Given the description of an element on the screen output the (x, y) to click on. 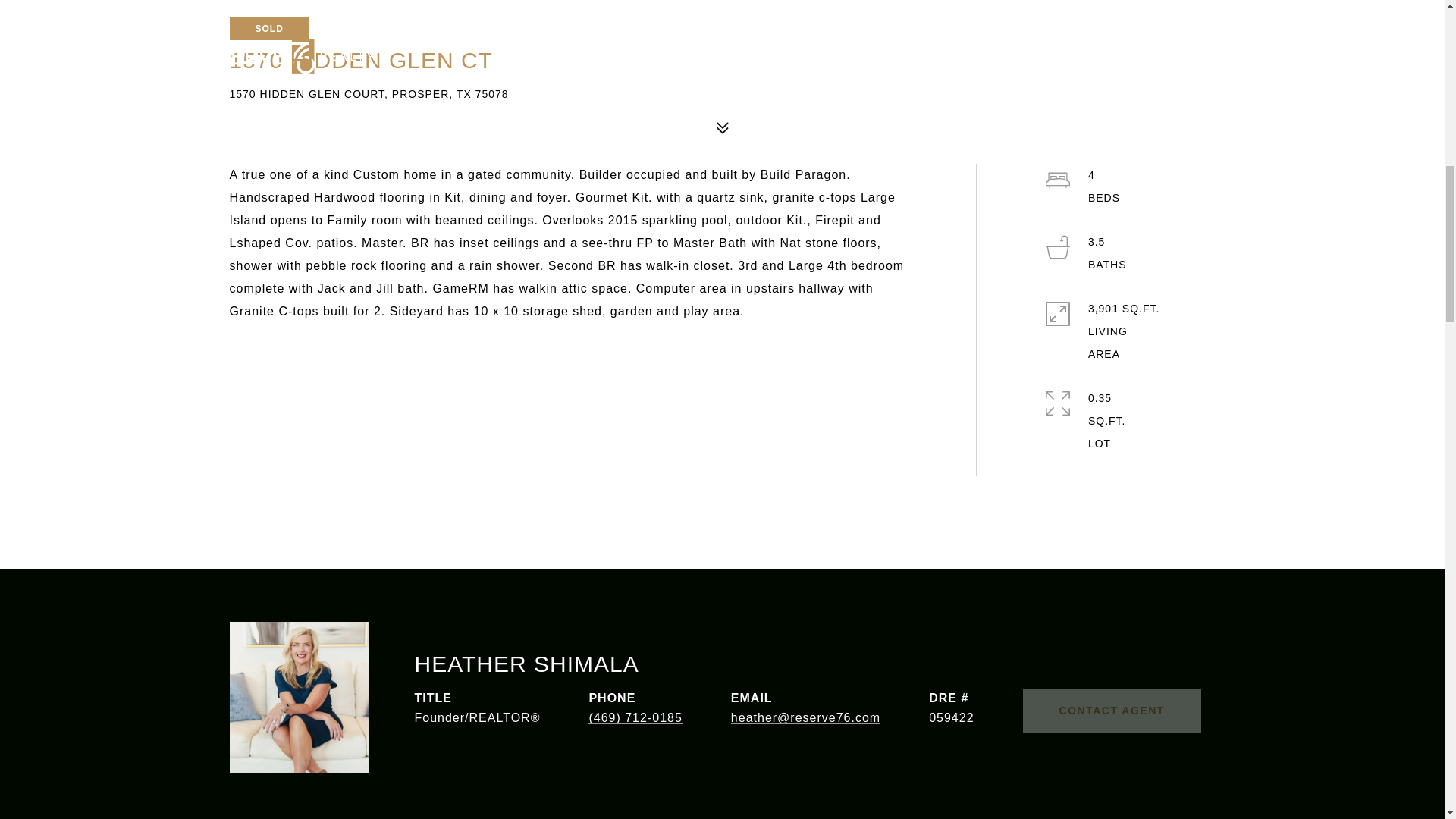
CONTACT AGENT (1112, 710)
